Given the description of an element on the screen output the (x, y) to click on. 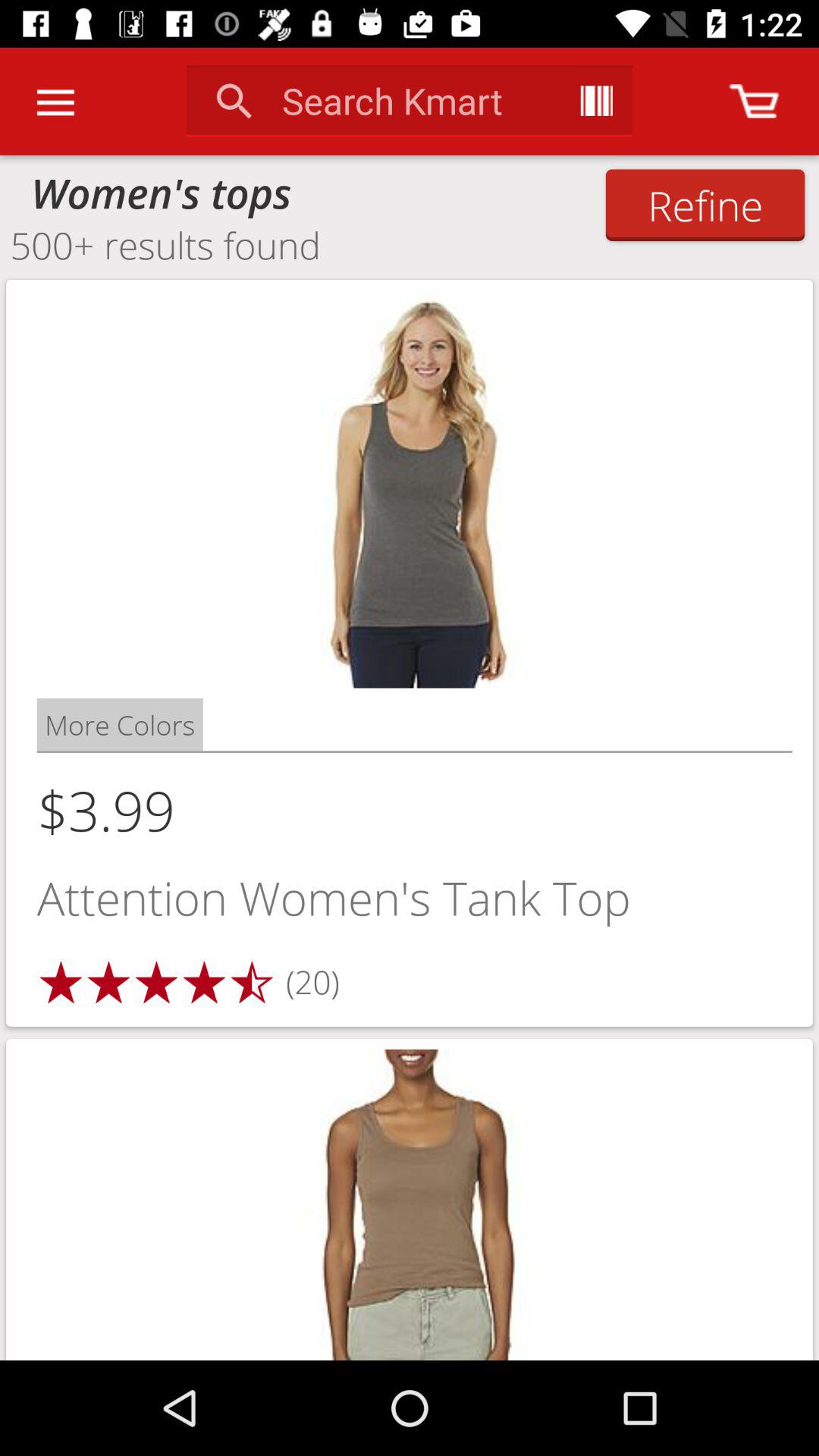
choose the app to the right of search kmart icon (596, 100)
